Given the description of an element on the screen output the (x, y) to click on. 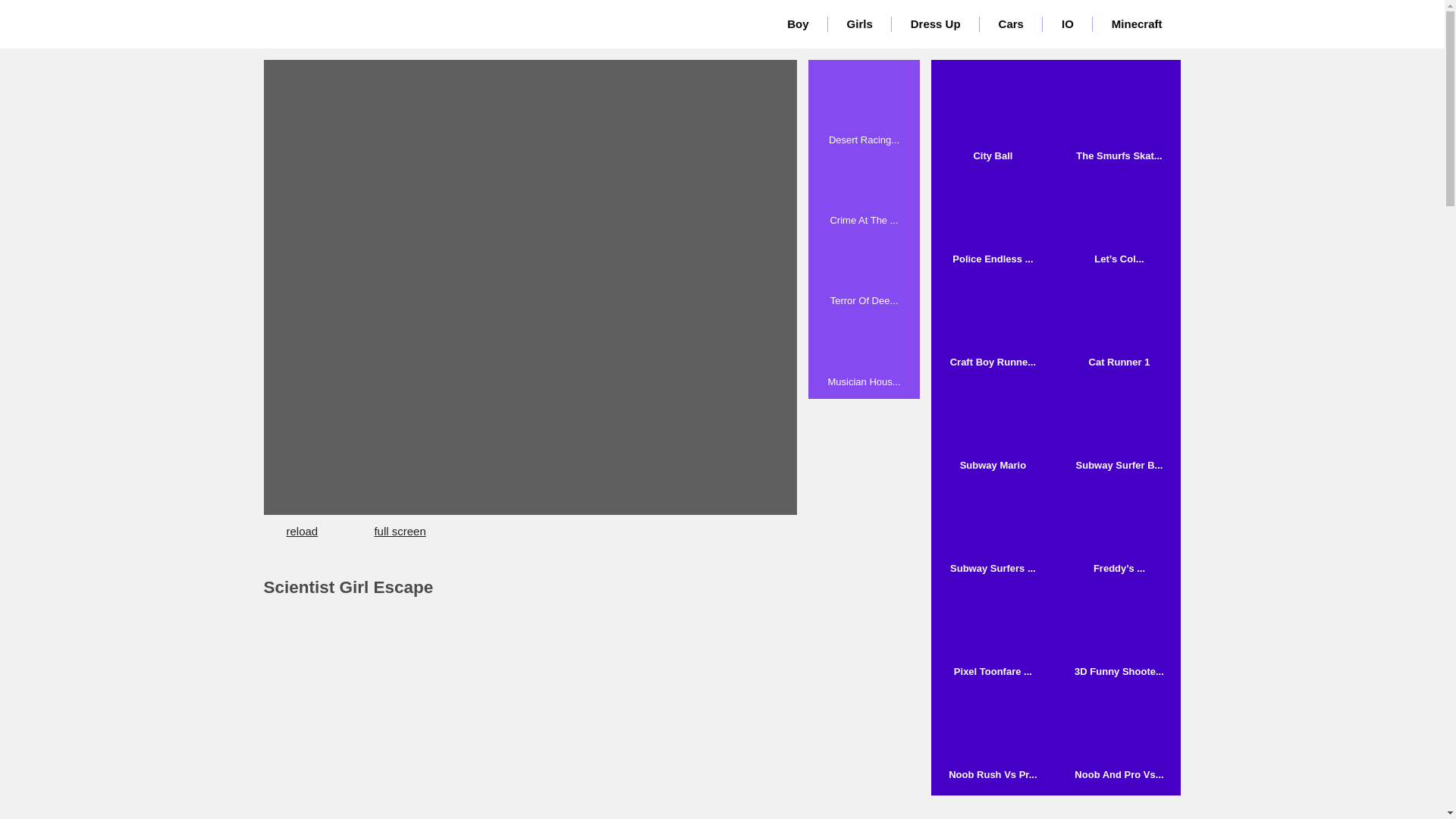
Crime At The Sunrise Hotel (864, 189)
Desert Racing... (864, 108)
Musician House Escape (864, 349)
Boy (797, 24)
Desert Racing 1 (864, 108)
Girls (859, 24)
Minecraft (1136, 24)
Cars (1010, 24)
IO (1067, 24)
Terror Of Dee... (864, 269)
